Given the description of an element on the screen output the (x, y) to click on. 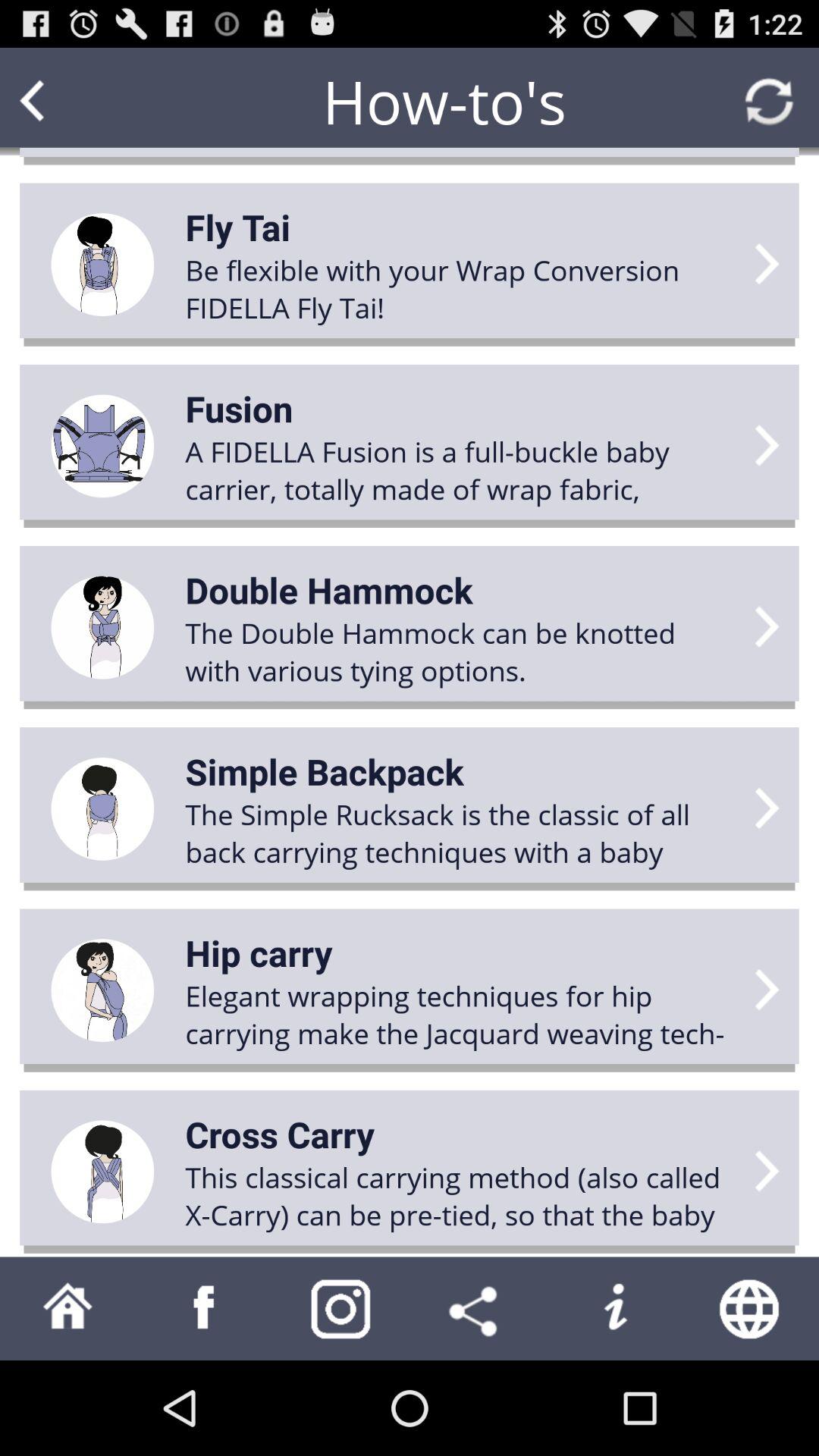
swipe until simple backpack app (324, 771)
